Given the description of an element on the screen output the (x, y) to click on. 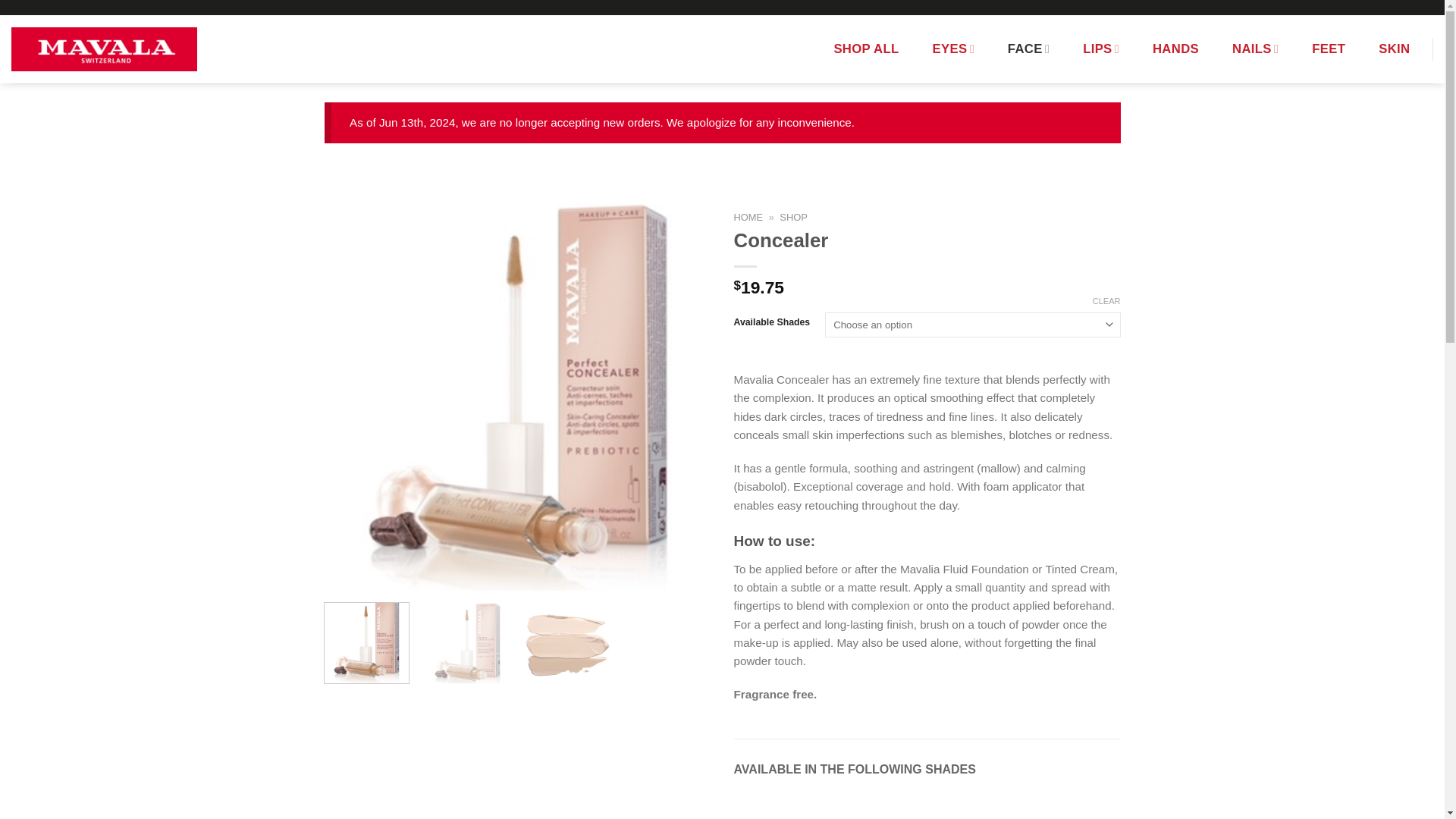
CLEAR (1107, 300)
HOME (747, 216)
SKIN (1393, 49)
SHOP ALL (865, 49)
HANDS (1175, 49)
SHOP (793, 216)
LIPS (1101, 48)
NAILS (1254, 48)
FACE (1028, 48)
FEET (1328, 49)
EYES (953, 48)
